Given the description of an element on the screen output the (x, y) to click on. 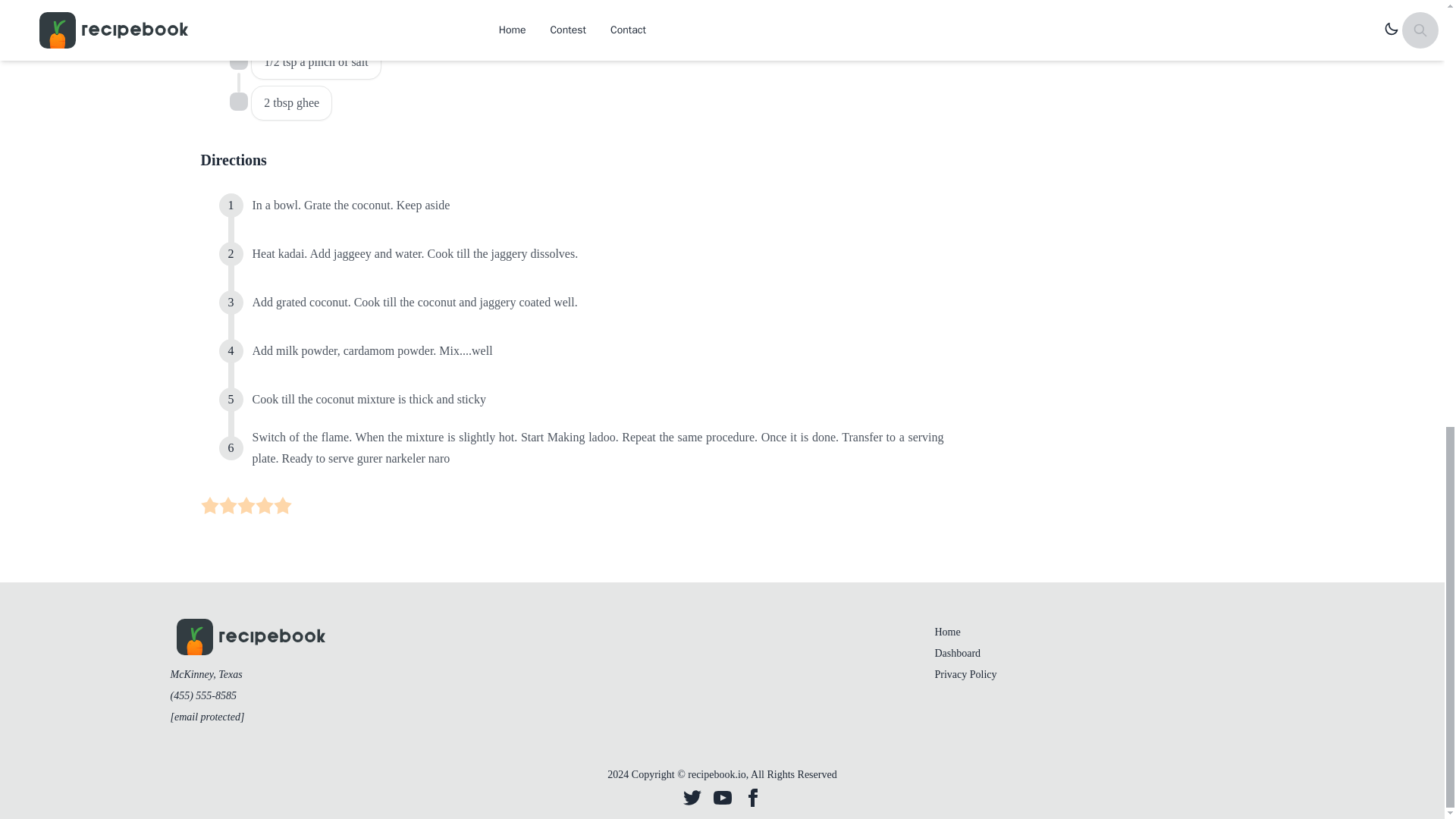
on (238, 19)
Dashboard (956, 653)
on (263, 505)
Home (946, 631)
on (282, 505)
on (209, 505)
on (238, 101)
on (238, 60)
on (226, 505)
Privacy Policy (964, 674)
on (244, 505)
